Given the description of an element on the screen output the (x, y) to click on. 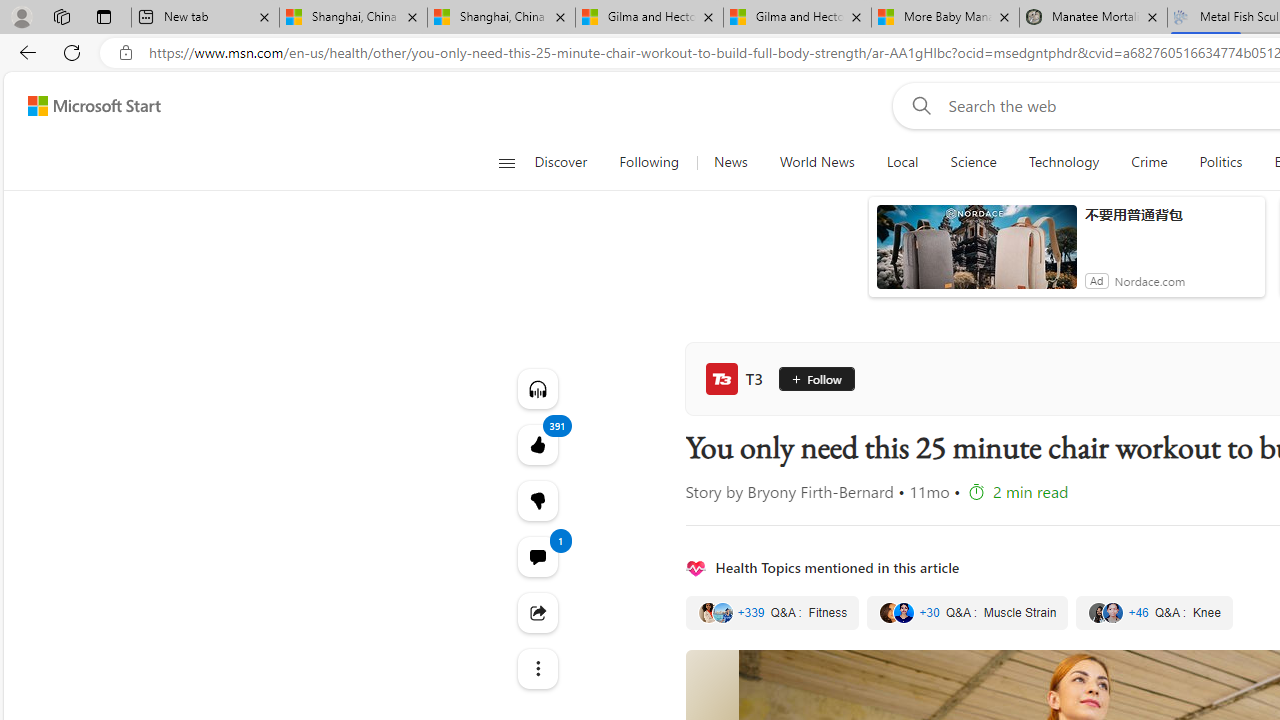
Science (973, 162)
Web search (917, 105)
Class: button-glyph (505, 162)
Skip to content (86, 105)
Dislike (537, 500)
Fitness (772, 613)
Class: quote-thumbnail (1113, 612)
Manatee Mortality Statistics | FWC (1093, 17)
Share this story (537, 612)
